Given the description of an element on the screen output the (x, y) to click on. 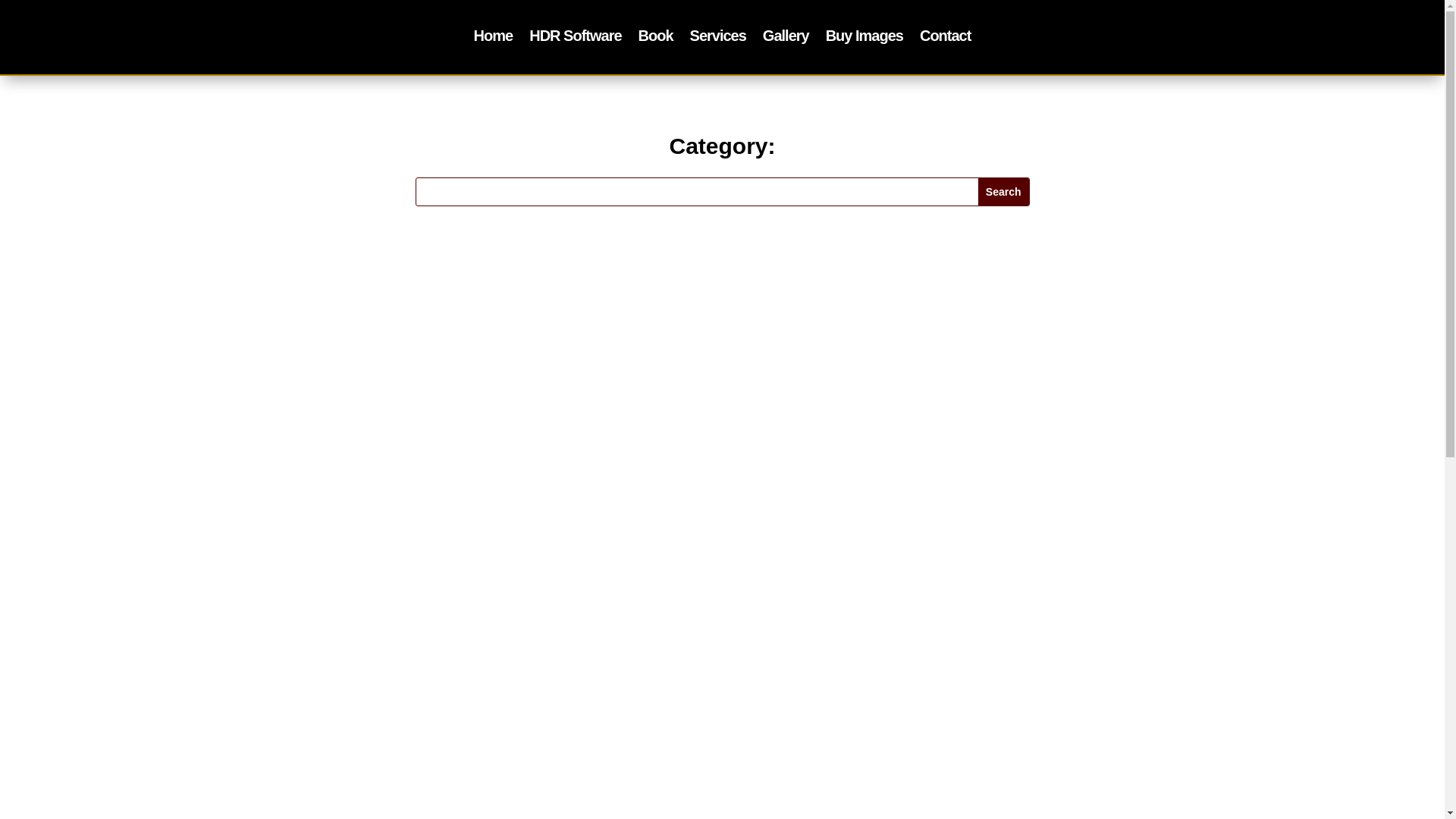
HDR Software (575, 38)
Buy Images (863, 38)
Gallery (785, 38)
Search (1003, 191)
Search (1003, 191)
Home (493, 38)
Book (655, 38)
Search (1003, 191)
Buy Captain Kimo Images (863, 38)
Services (717, 38)
Contact (945, 38)
